Given the description of an element on the screen output the (x, y) to click on. 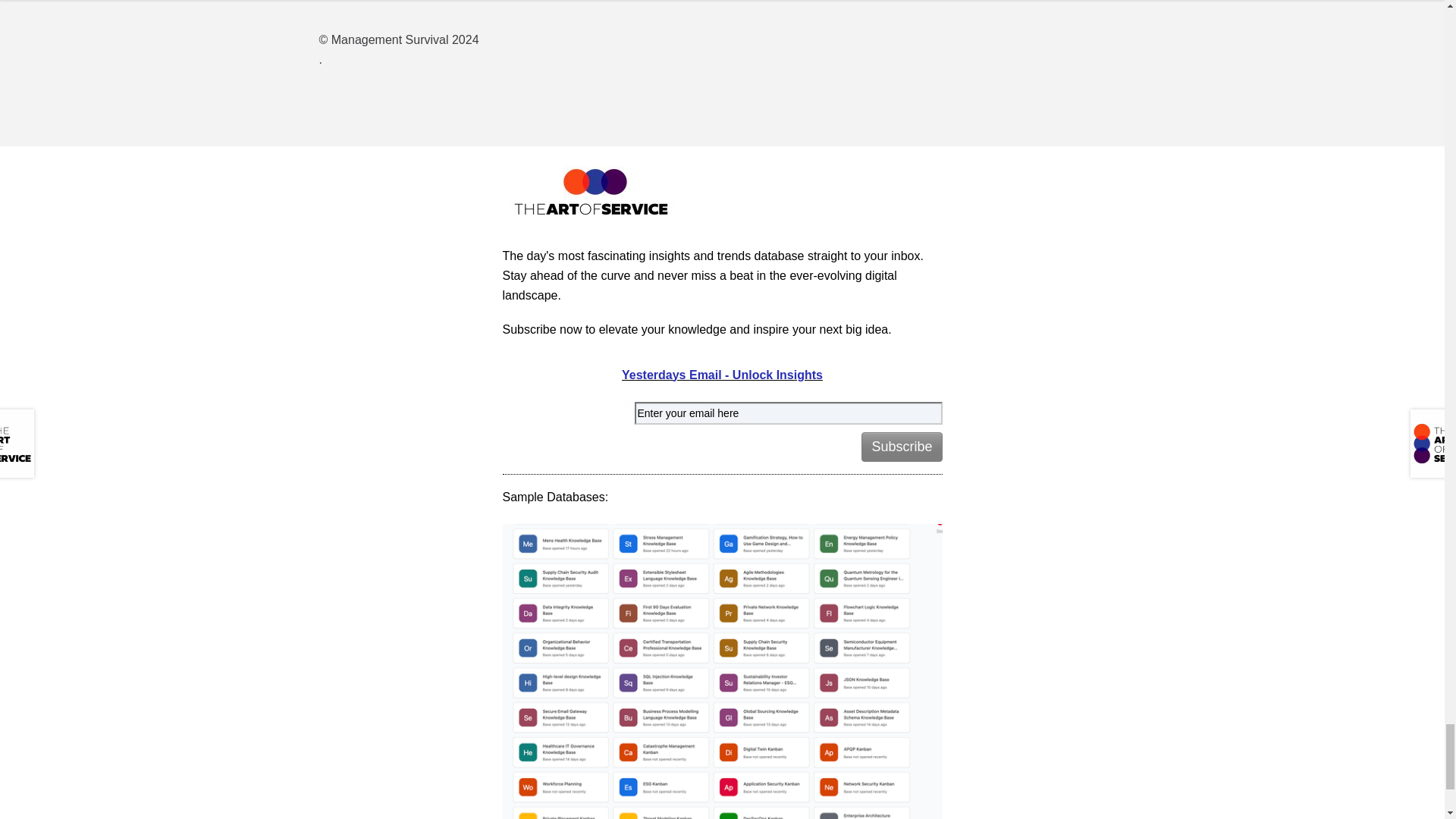
Enter your email here (787, 413)
Subscribe (901, 446)
